Given the description of an element on the screen output the (x, y) to click on. 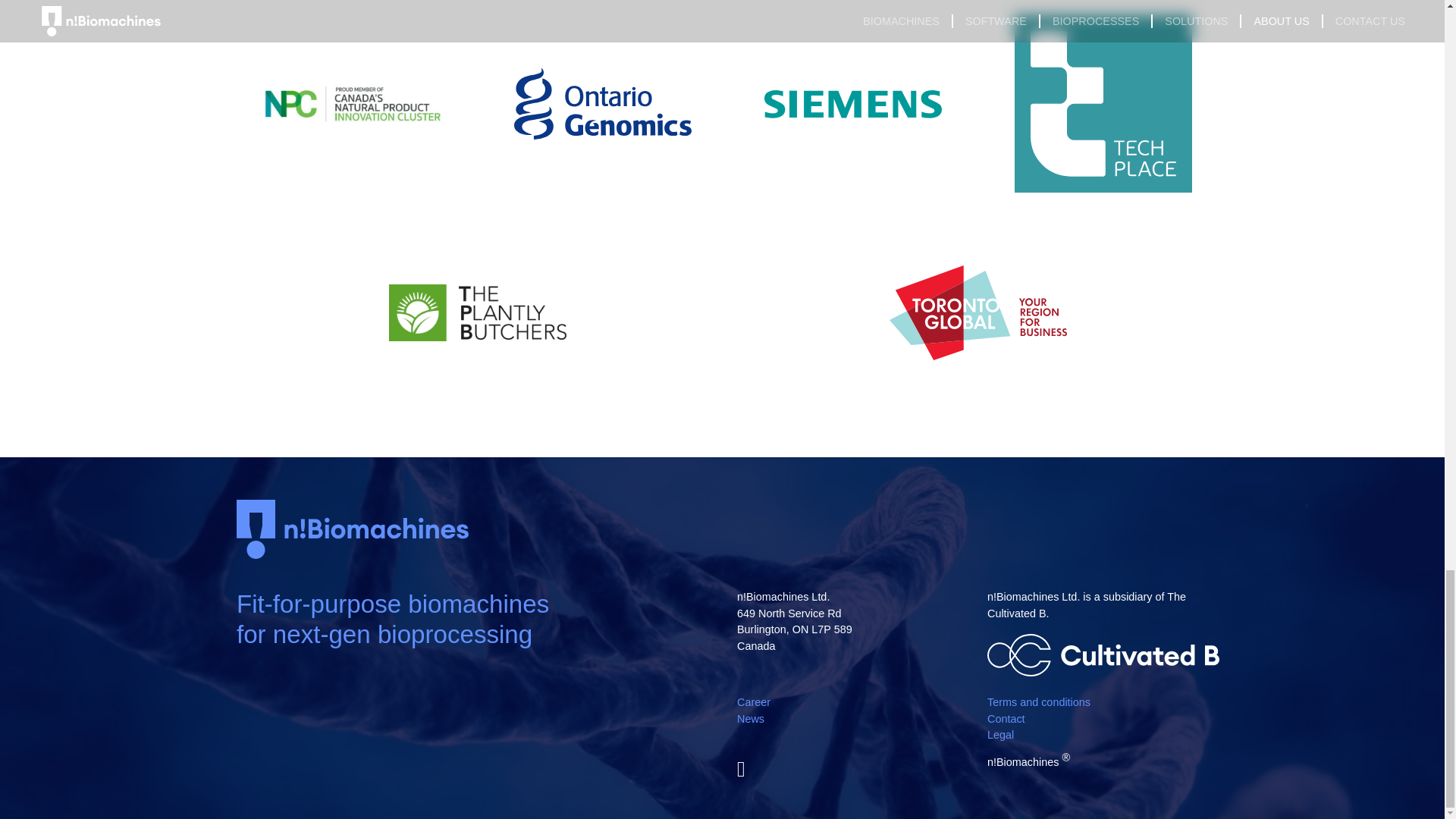
News (852, 719)
Contact (1103, 719)
Terms and conditions (1103, 702)
Career (852, 702)
Legal (1103, 735)
